Given the description of an element on the screen output the (x, y) to click on. 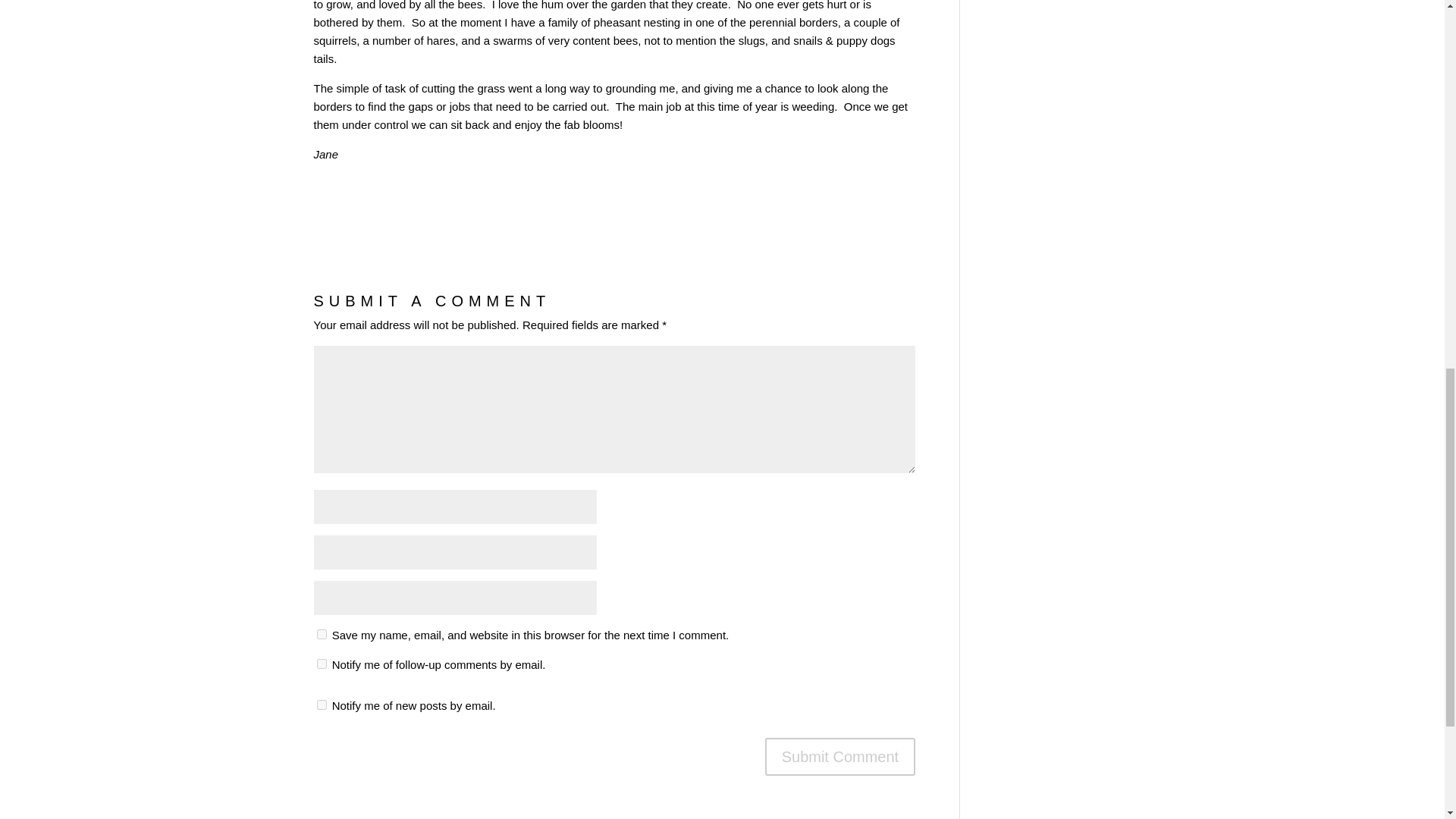
subscribe (321, 705)
Submit Comment (840, 756)
subscribe (321, 664)
yes (321, 634)
Submit Comment (840, 756)
